Given the description of an element on the screen output the (x, y) to click on. 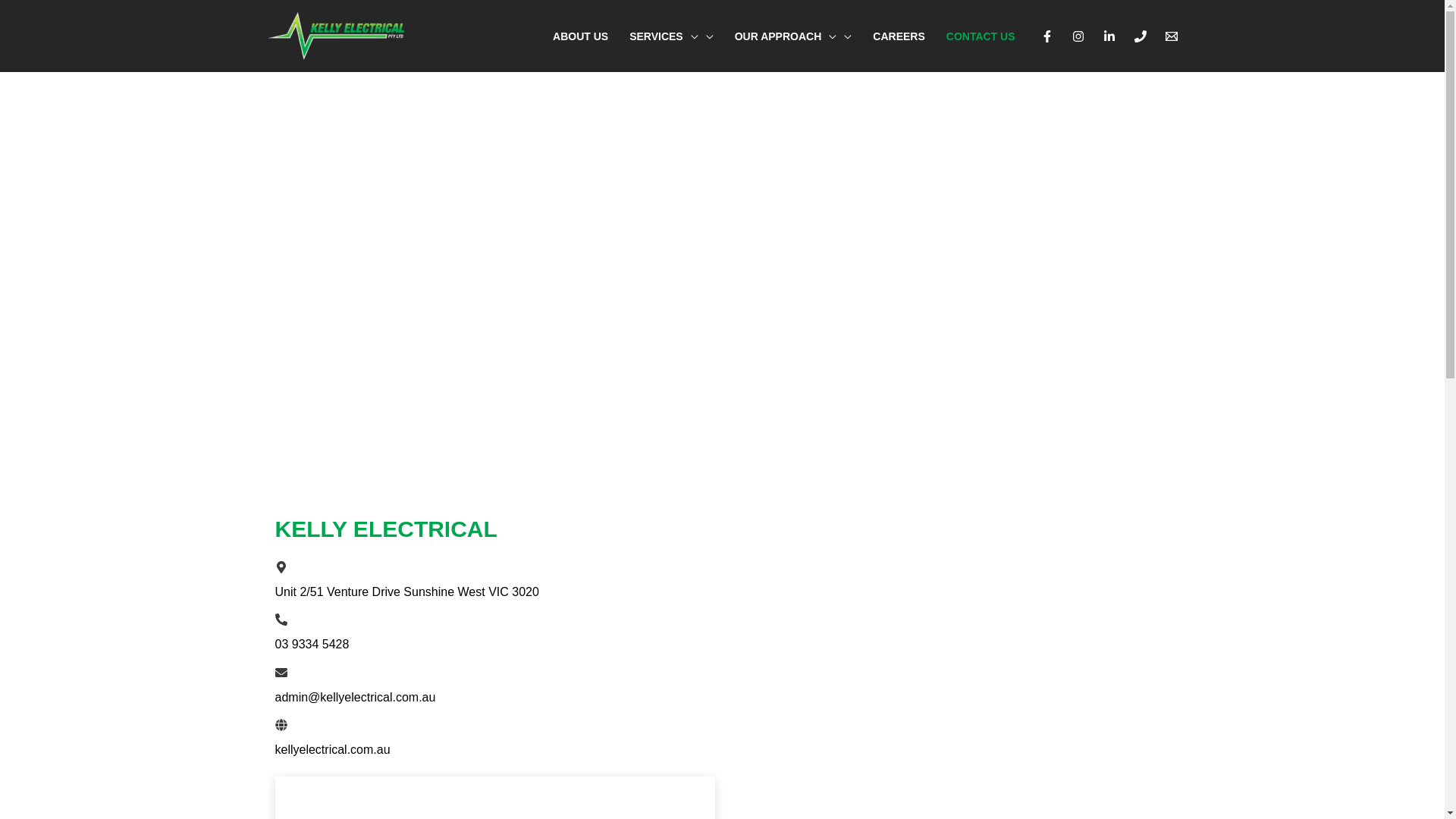
SERVICES Element type: text (671, 36)
ABOUT US Element type: text (580, 36)
CONTACT US Element type: text (980, 36)
CAREERS Element type: text (898, 36)
OUR APPROACH Element type: text (793, 36)
